Given the description of an element on the screen output the (x, y) to click on. 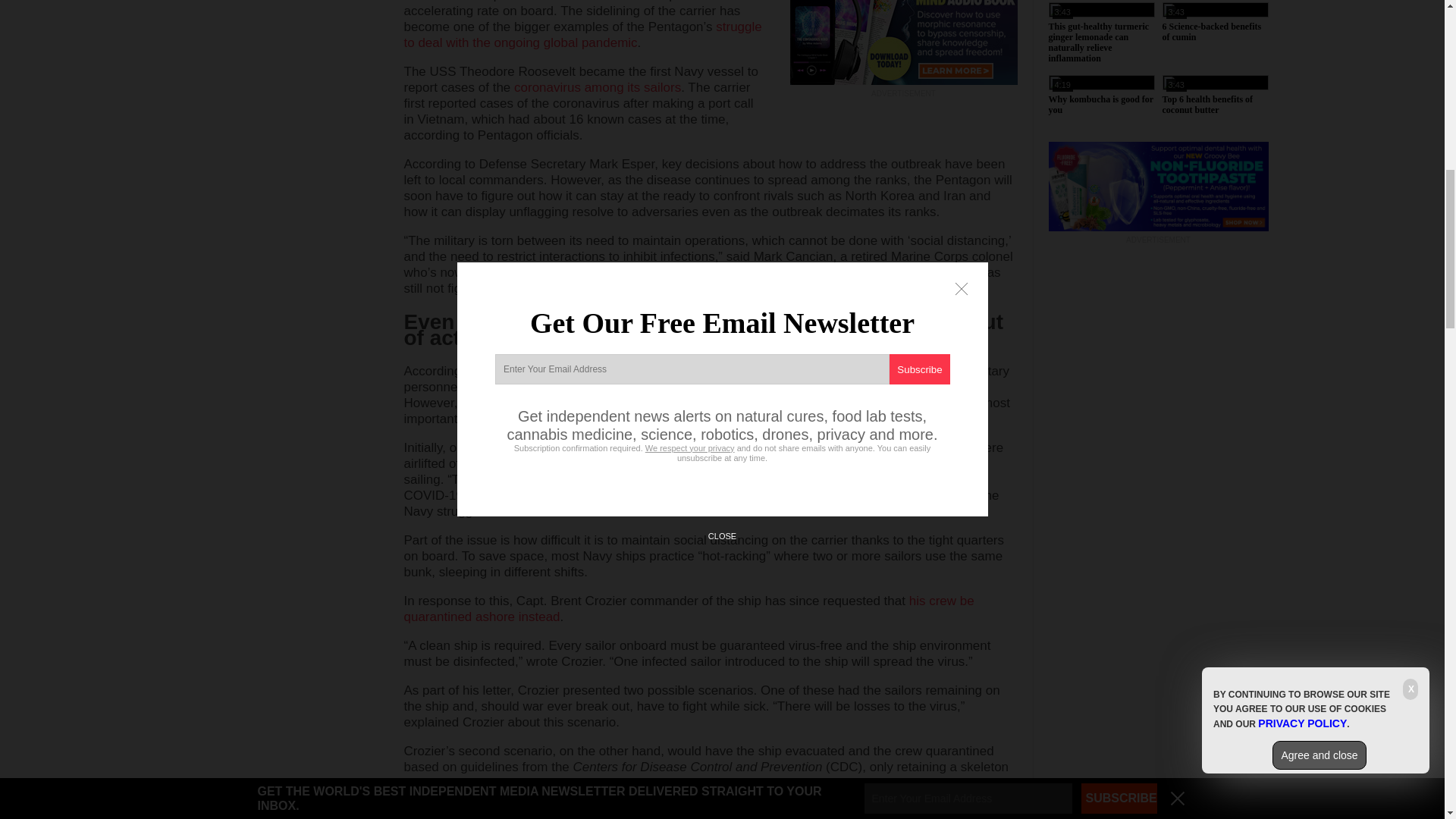
struggle to deal with the ongoing global pandemic (582, 34)
his crew be quarantined ashore instead (688, 608)
coronavirus among its sailors (597, 87)
